Given the description of an element on the screen output the (x, y) to click on. 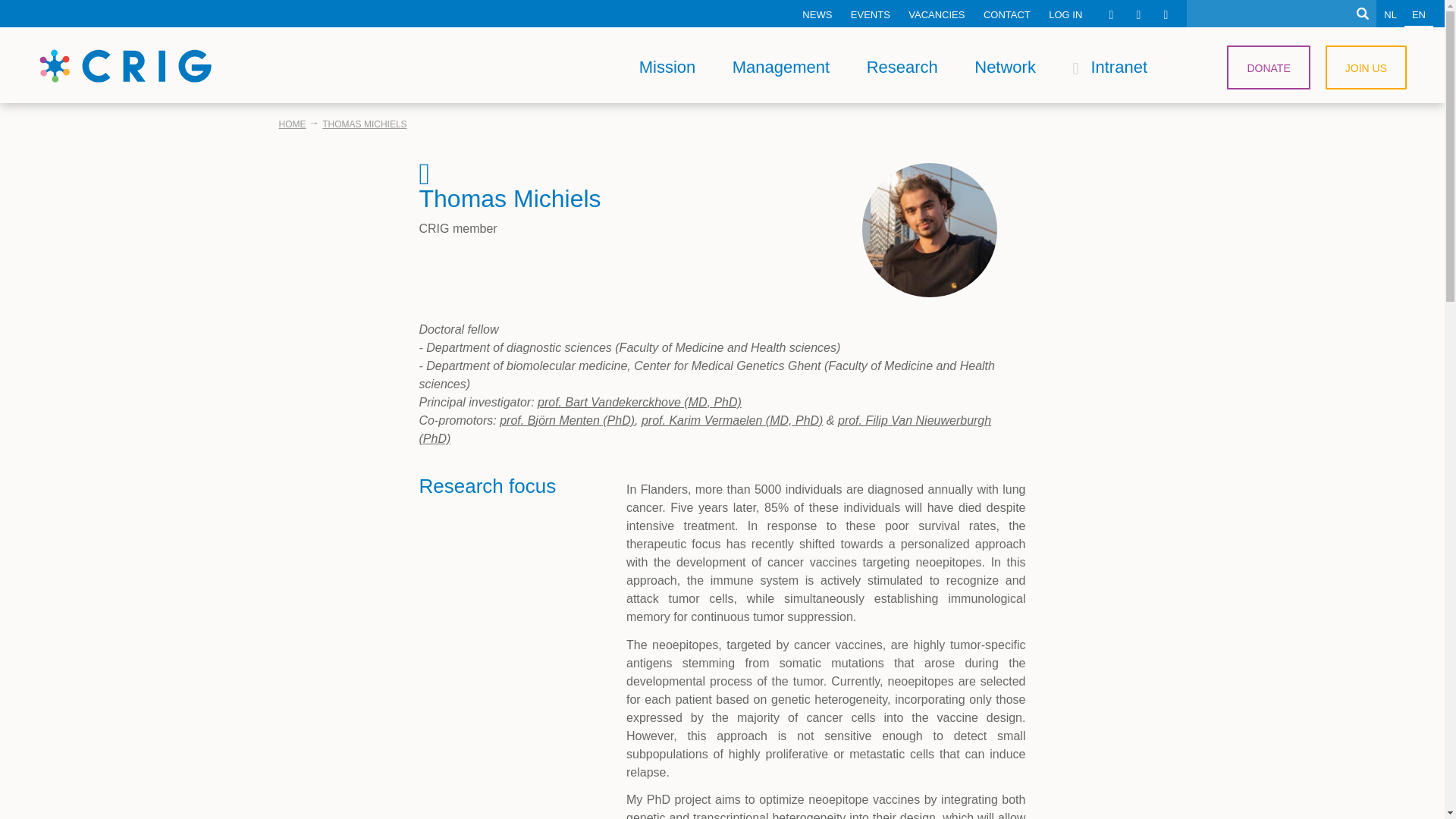
Management (780, 66)
VACANCIES (936, 13)
NL (1390, 13)
HOME (292, 123)
EN (1418, 13)
Intranet (1109, 66)
Mission (667, 66)
NEWS (817, 13)
THOMAS MICHIELS (363, 123)
DONATE (1267, 67)
JOIN US (1365, 67)
Search (1362, 13)
Search (1362, 13)
CONTACT (1006, 13)
EVENTS (870, 13)
